Given the description of an element on the screen output the (x, y) to click on. 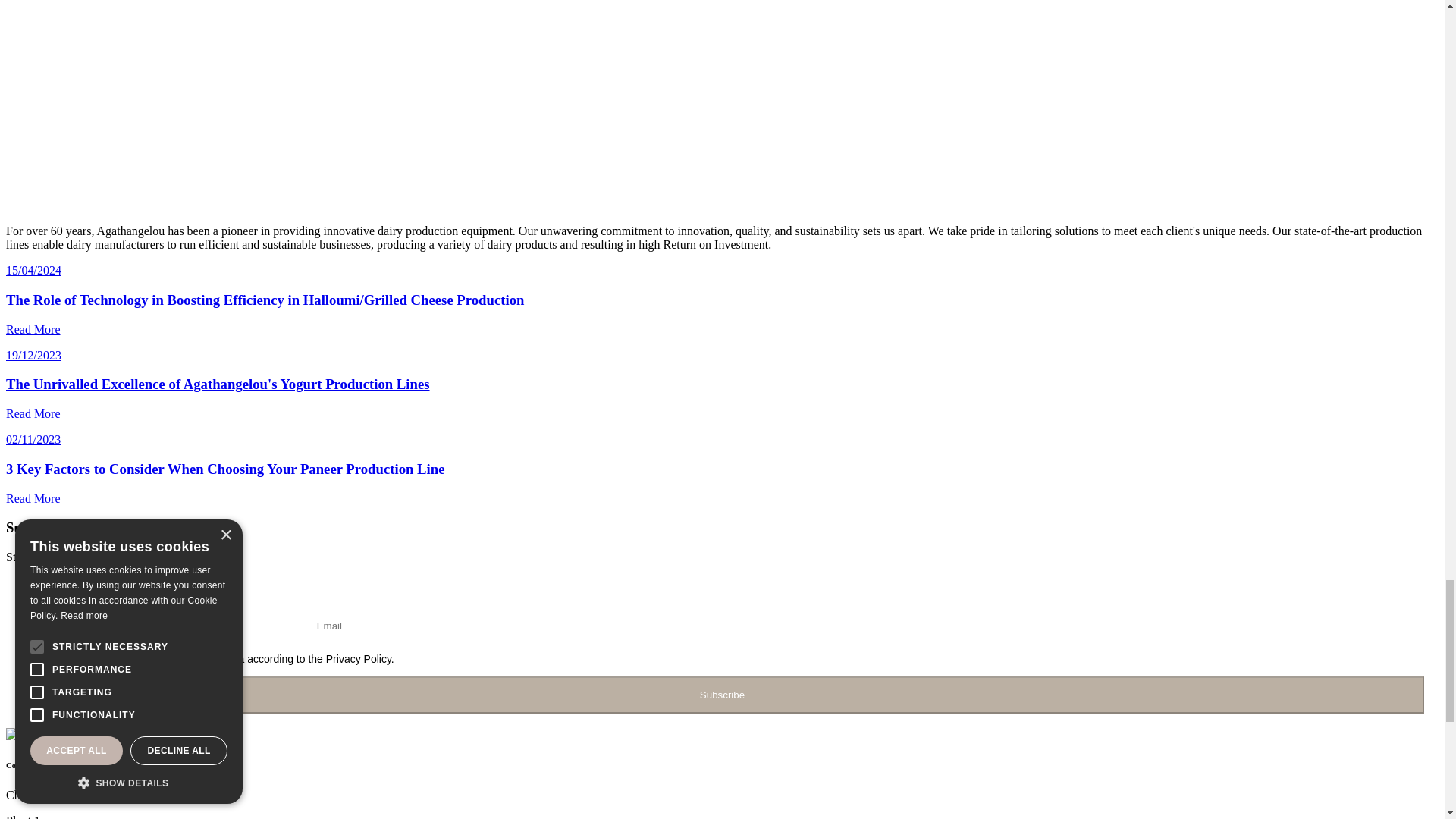
Read More (33, 328)
on (28, 657)
Subscribe (721, 694)
